Given the description of an element on the screen output the (x, y) to click on. 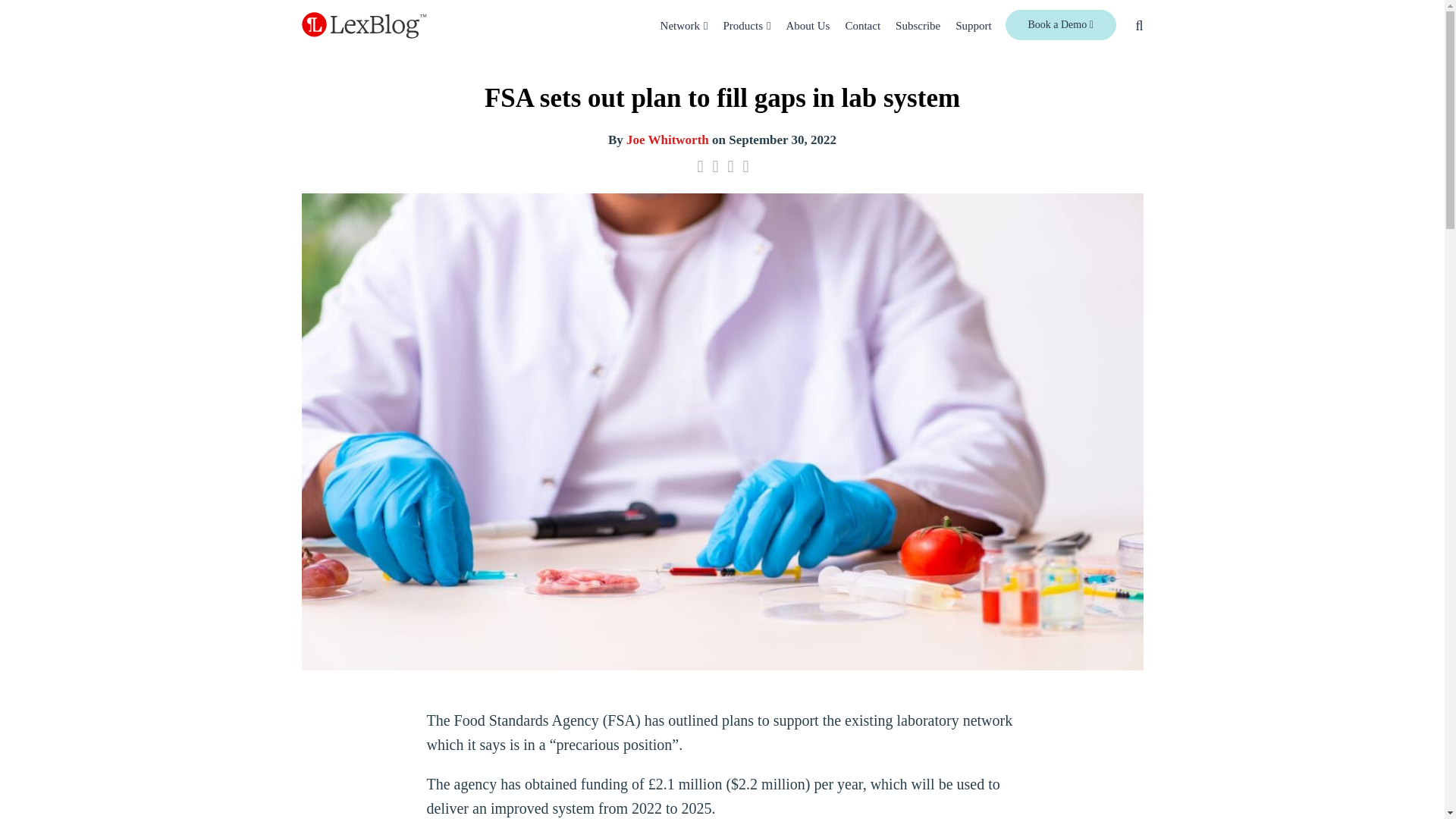
Subscribe (917, 25)
Contact (862, 25)
Support (973, 25)
Joe Whitworth (667, 139)
About Us (807, 25)
Book a Demo (1061, 24)
Products (742, 25)
Network (680, 25)
